Given the description of an element on the screen output the (x, y) to click on. 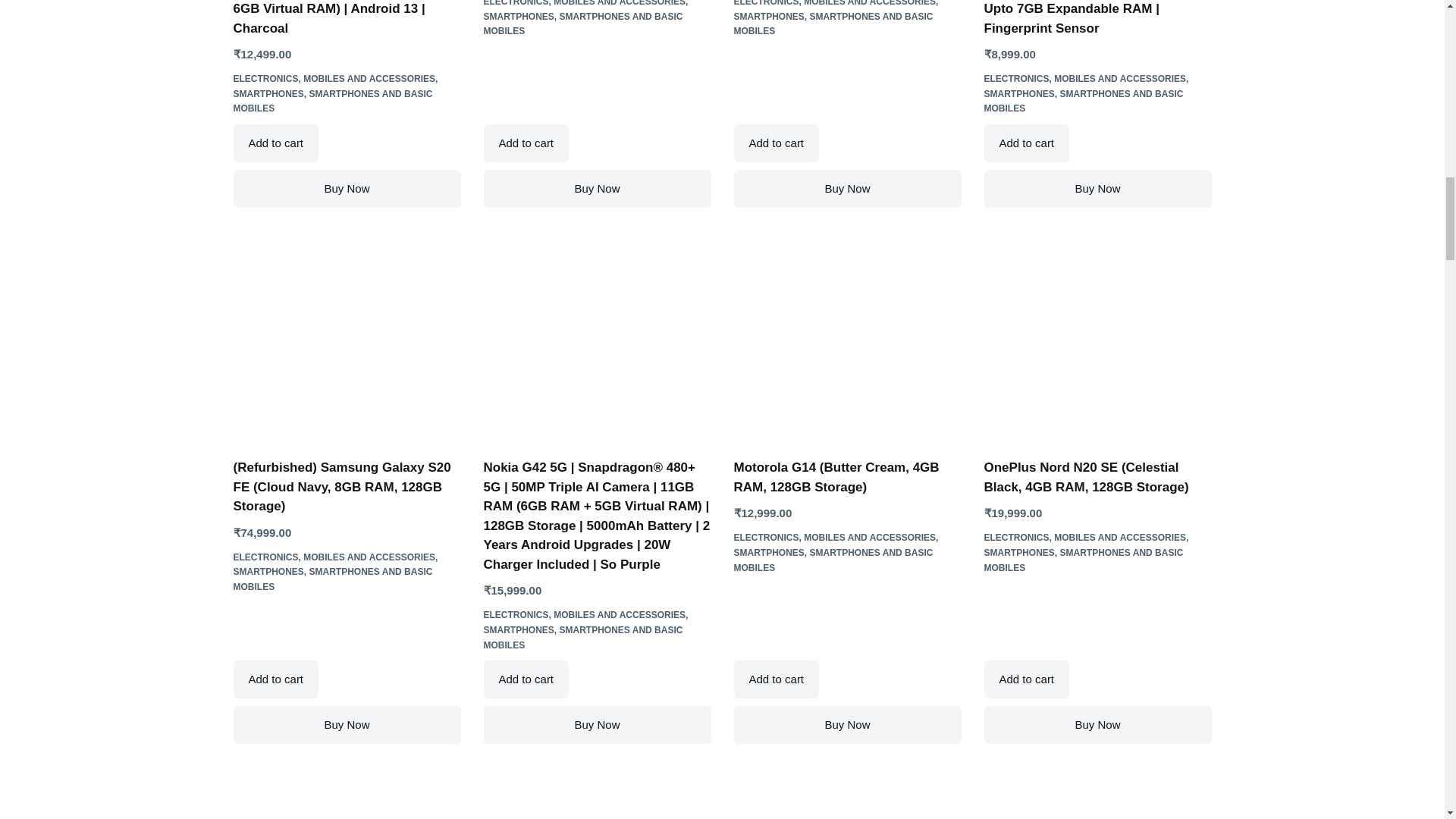
Refurbished-OnePlus-5-Midnight-Black-8GB-RAM-128GB-Memory (1097, 792)
Motorola-G14-Butter-Cream-4GB-RAM-128GB-Storage (846, 343)
Honor-20i-Phantom-Blue-128GB-Storage-Triple-AI-Camera (346, 792)
OnePlus-Nord-N20-SE-Celestial-Black-4GB-RAM-128GB-Storage (1097, 343)
Refurbished-Redmi-Go-Blue-8GB-ROM-1GB-RAM (597, 792)
